Given the description of an element on the screen output the (x, y) to click on. 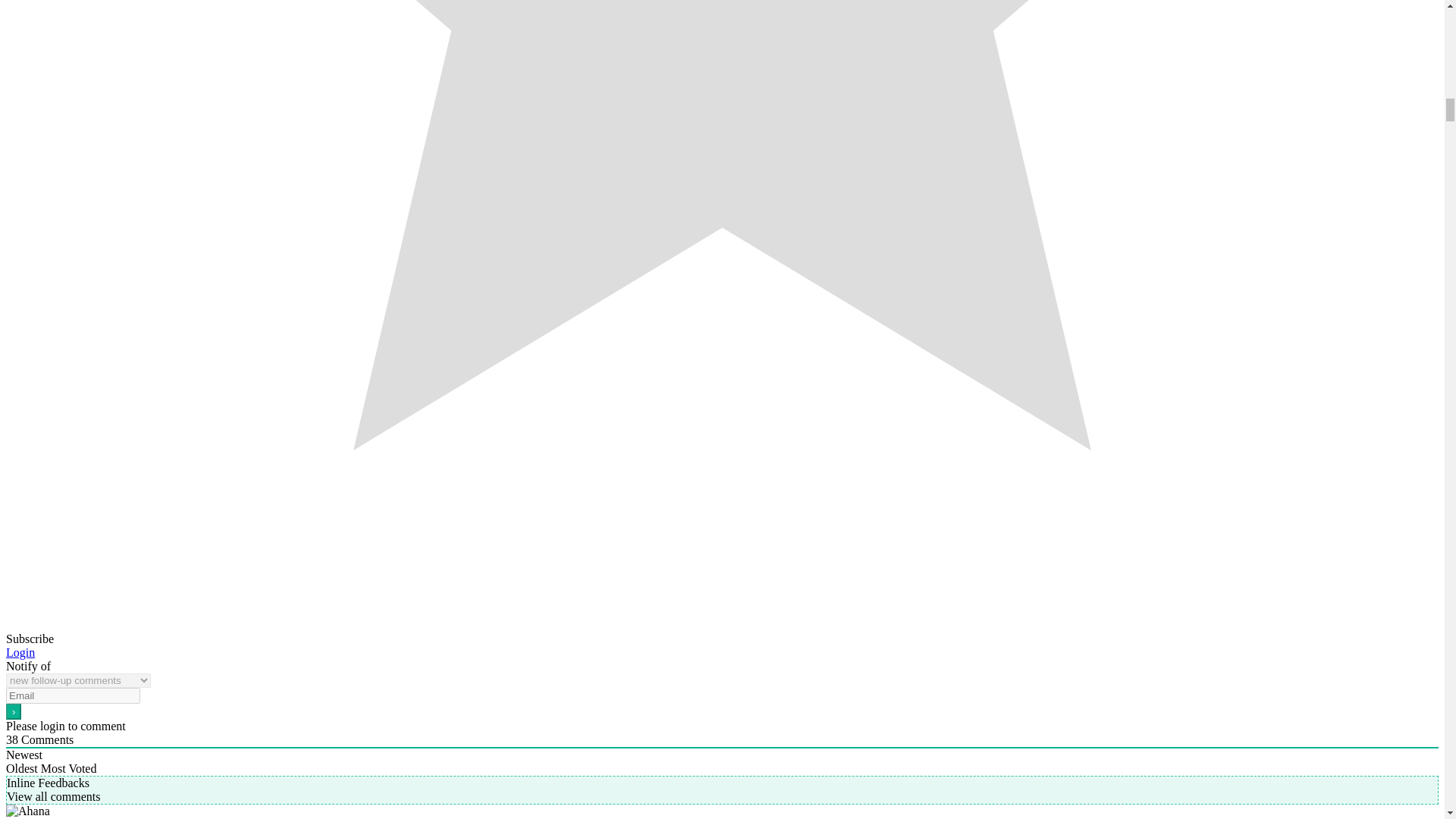
38 (11, 739)
